Given the description of an element on the screen output the (x, y) to click on. 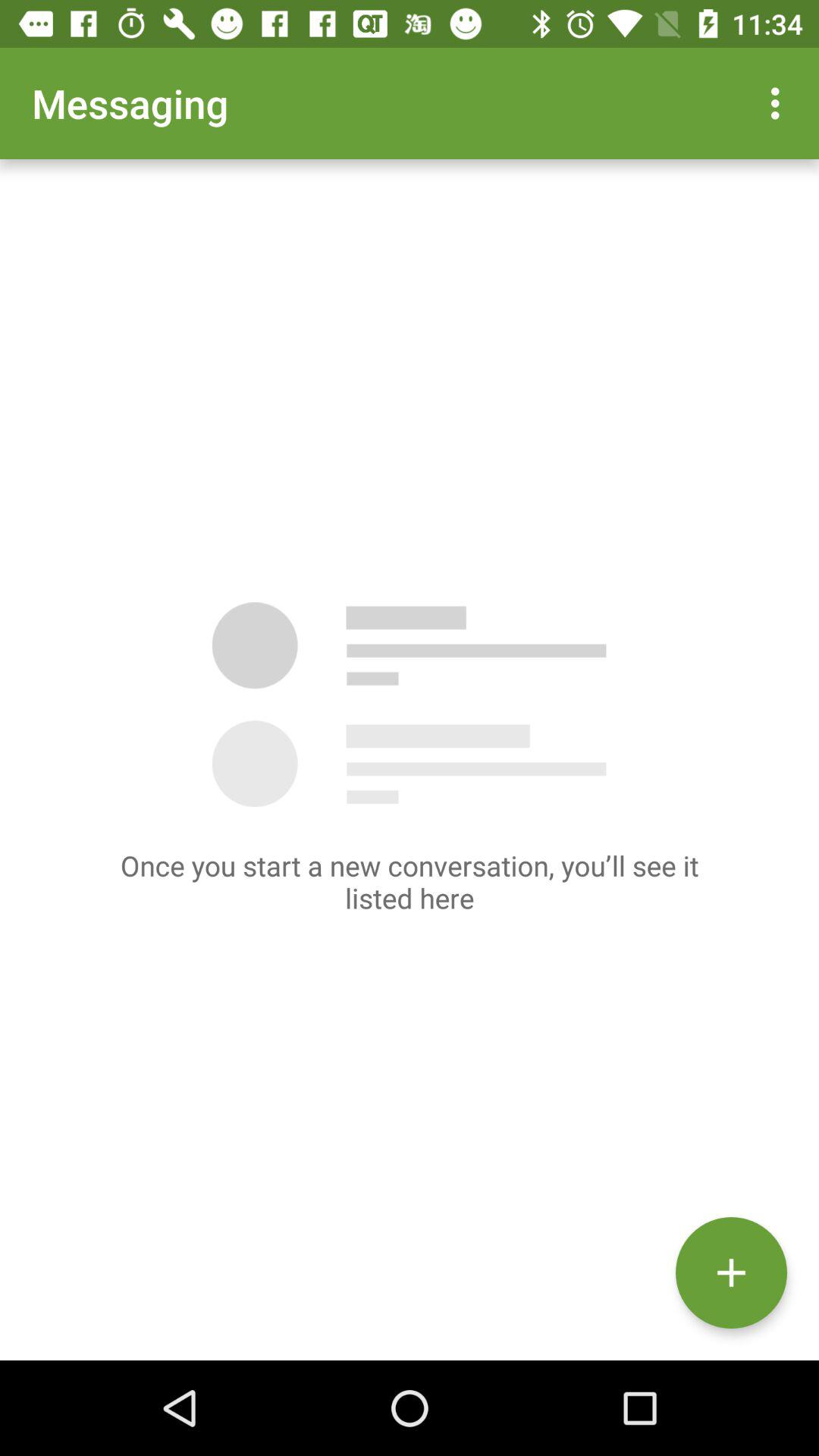
press the app to the right of messaging app (779, 103)
